Given the description of an element on the screen output the (x, y) to click on. 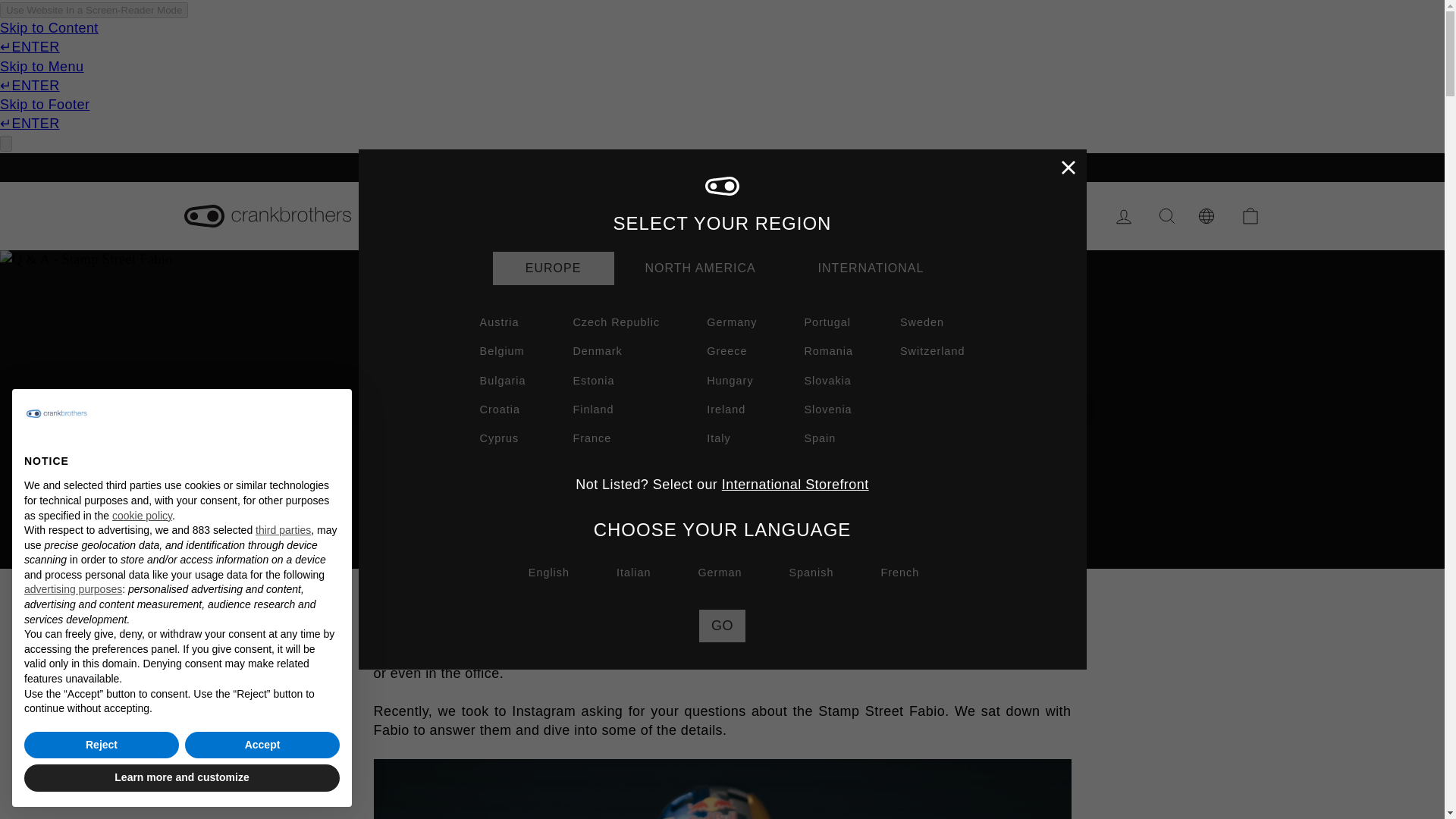
Go (721, 625)
